Given the description of an element on the screen output the (x, y) to click on. 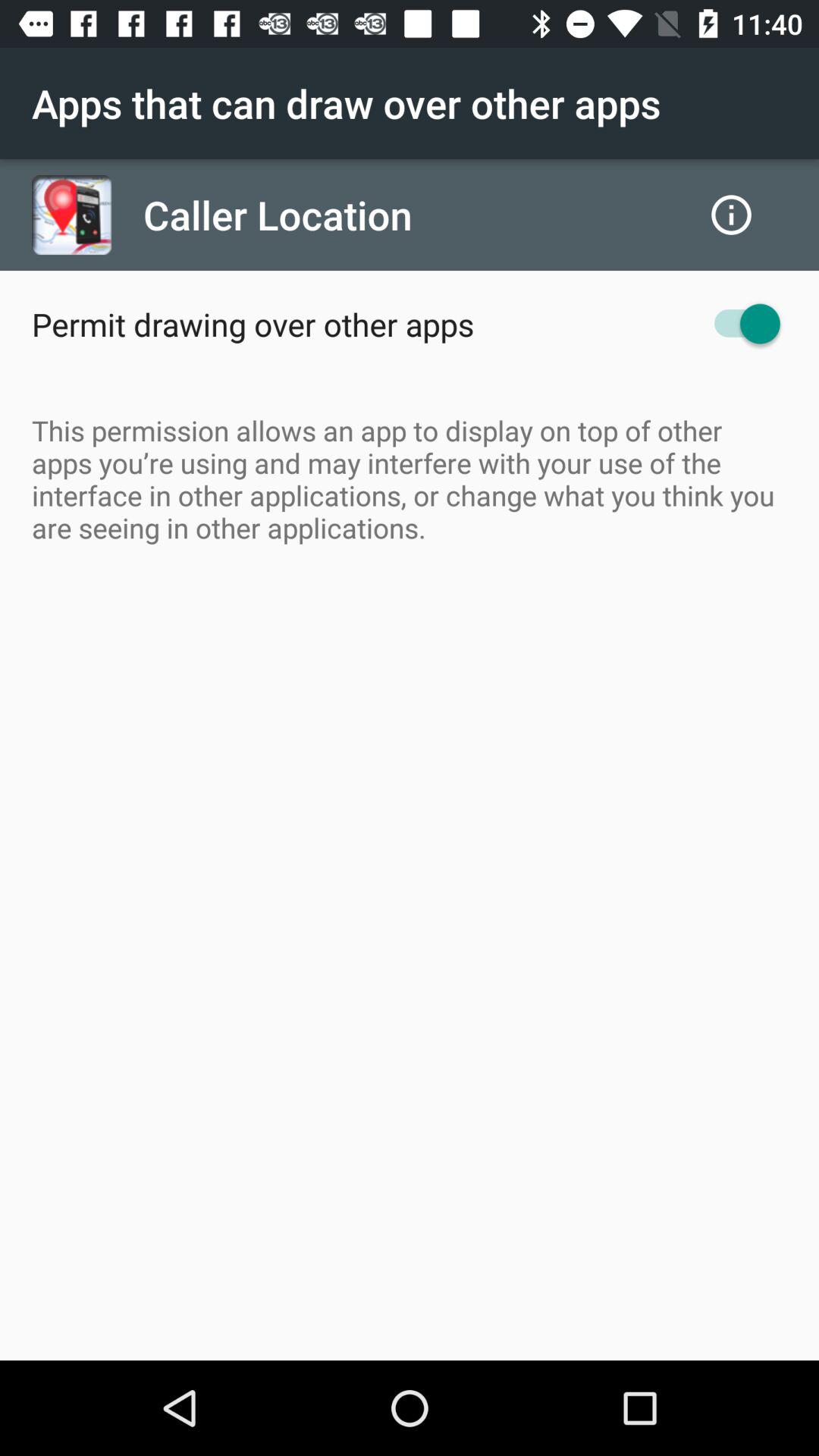
turn on the item to the right of the permit drawing over icon (739, 323)
